Given the description of an element on the screen output the (x, y) to click on. 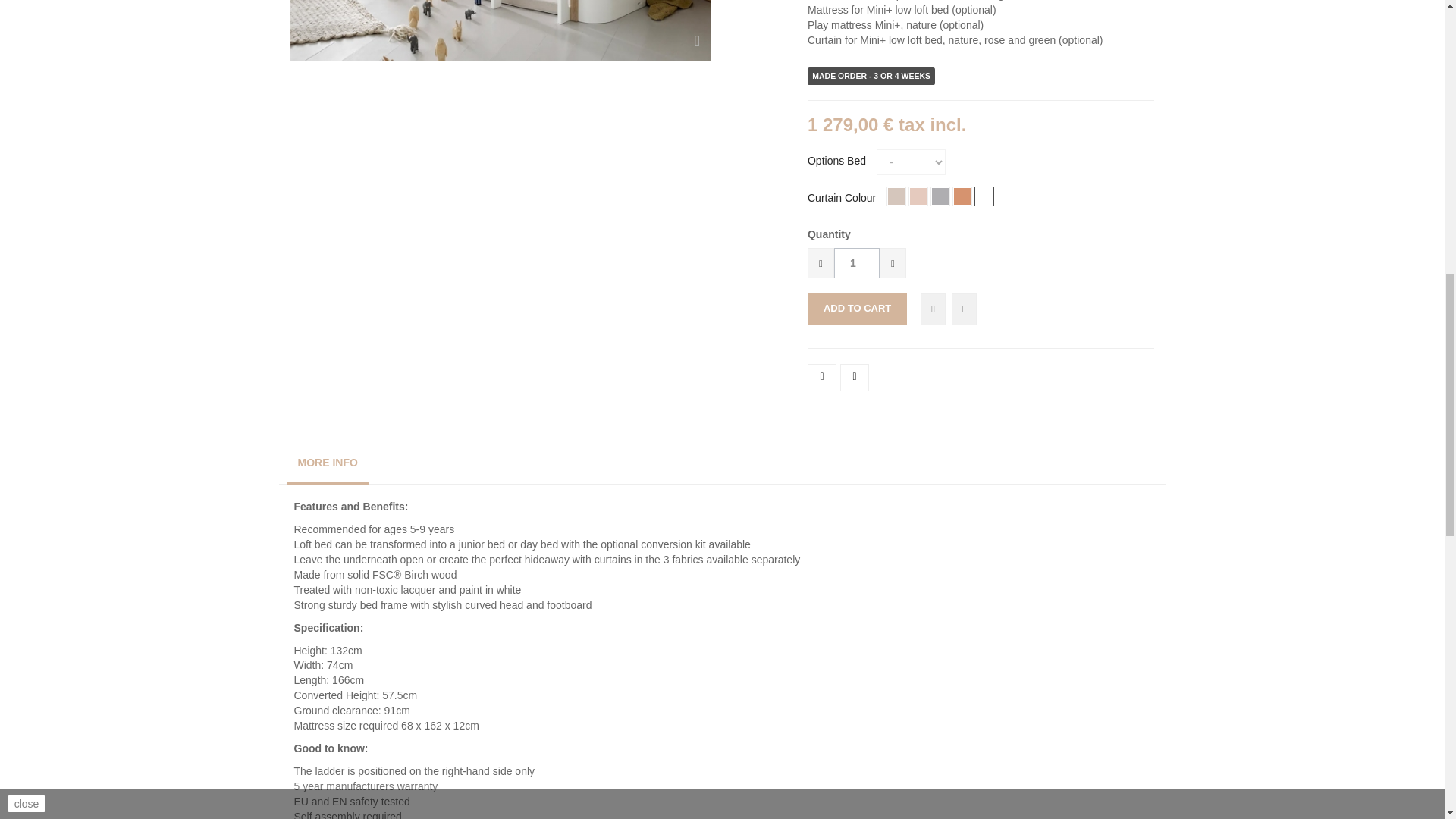
1 (856, 263)
